Given the description of an element on the screen output the (x, y) to click on. 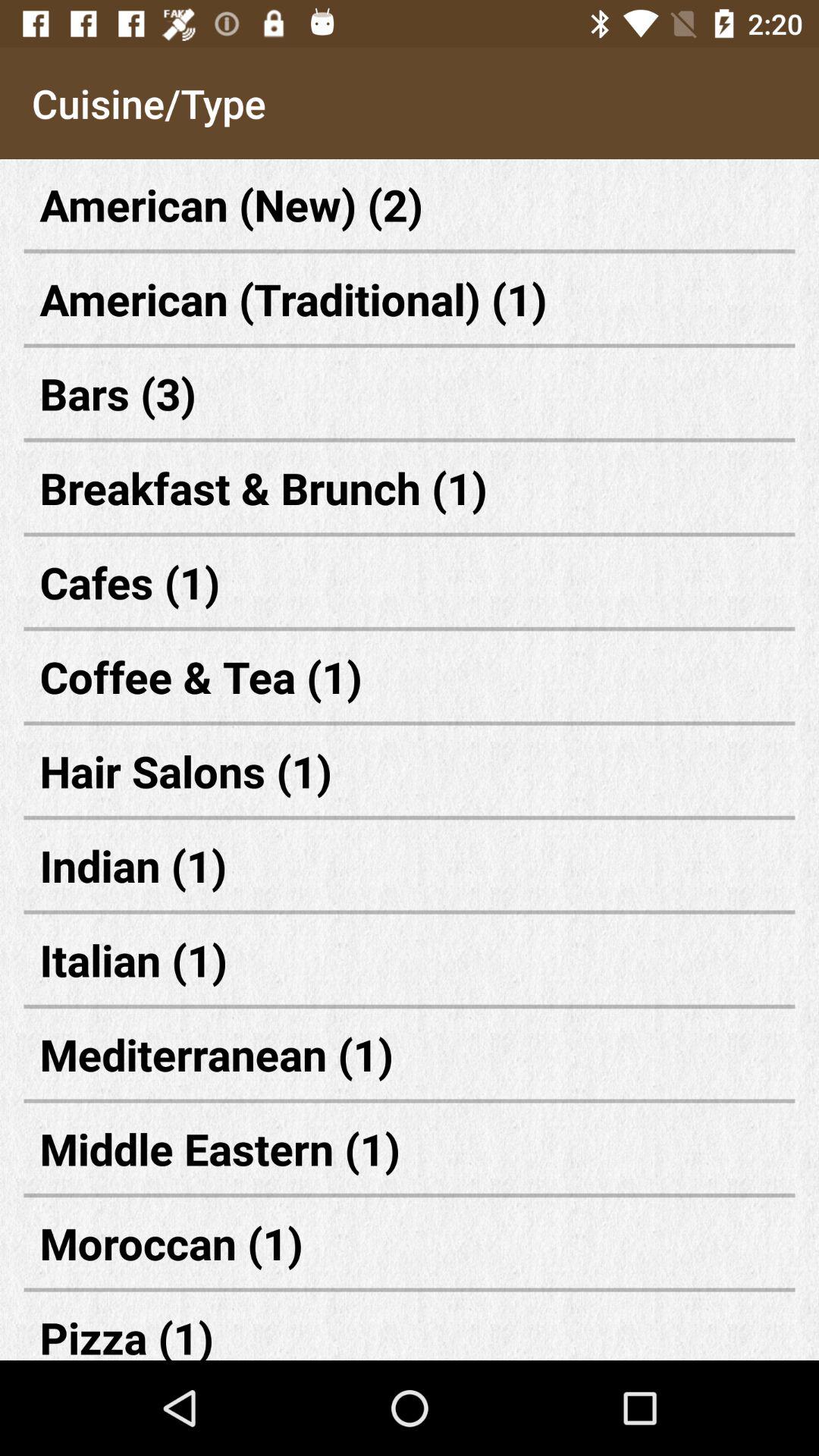
click the hair salons (1) (409, 770)
